Given the description of an element on the screen output the (x, y) to click on. 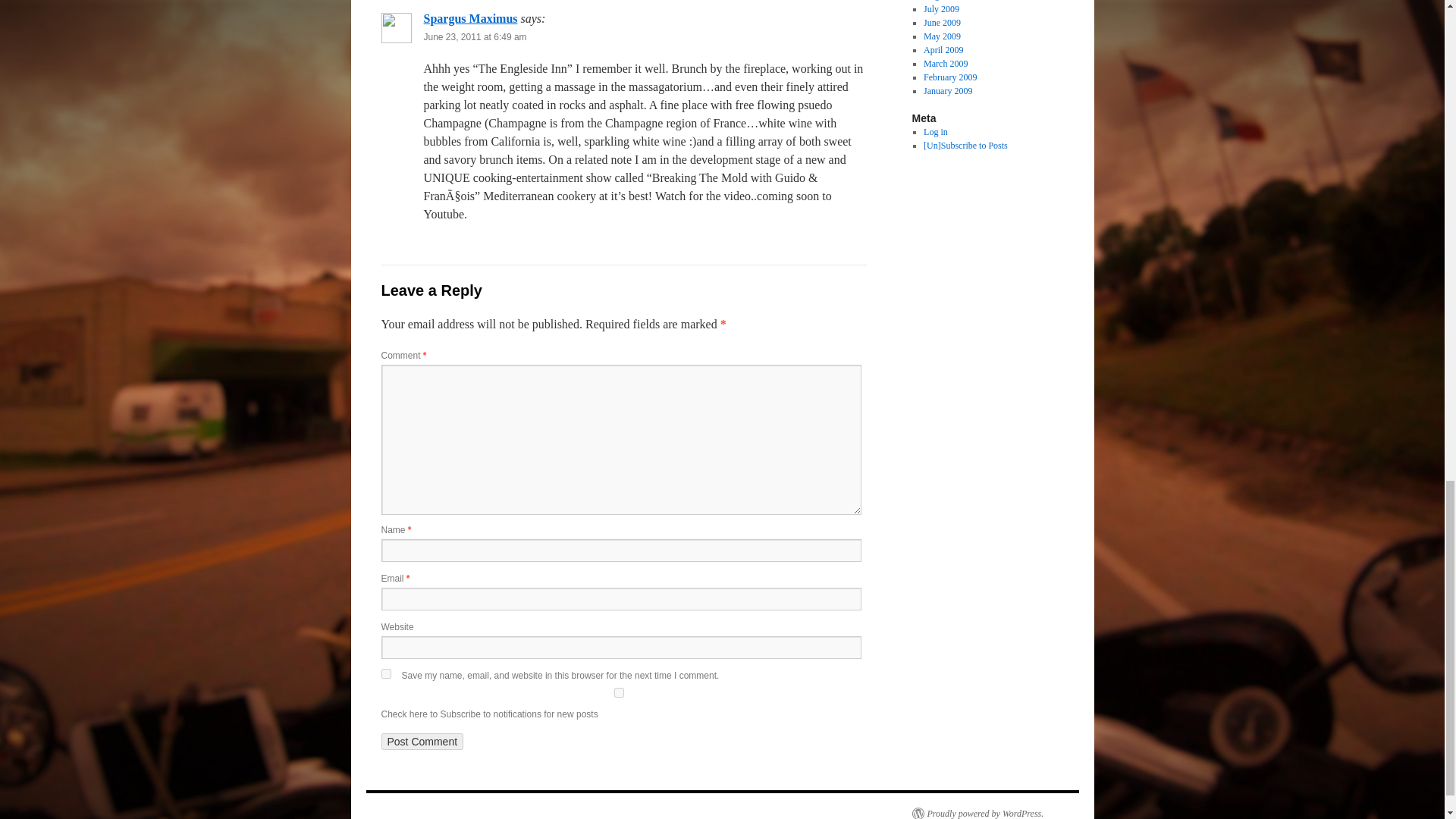
1 (618, 692)
Post Comment (421, 741)
yes (385, 673)
June 23, 2011 at 6:49 am (474, 36)
Post Comment (421, 741)
Spargus Maximus (469, 18)
